Given the description of an element on the screen output the (x, y) to click on. 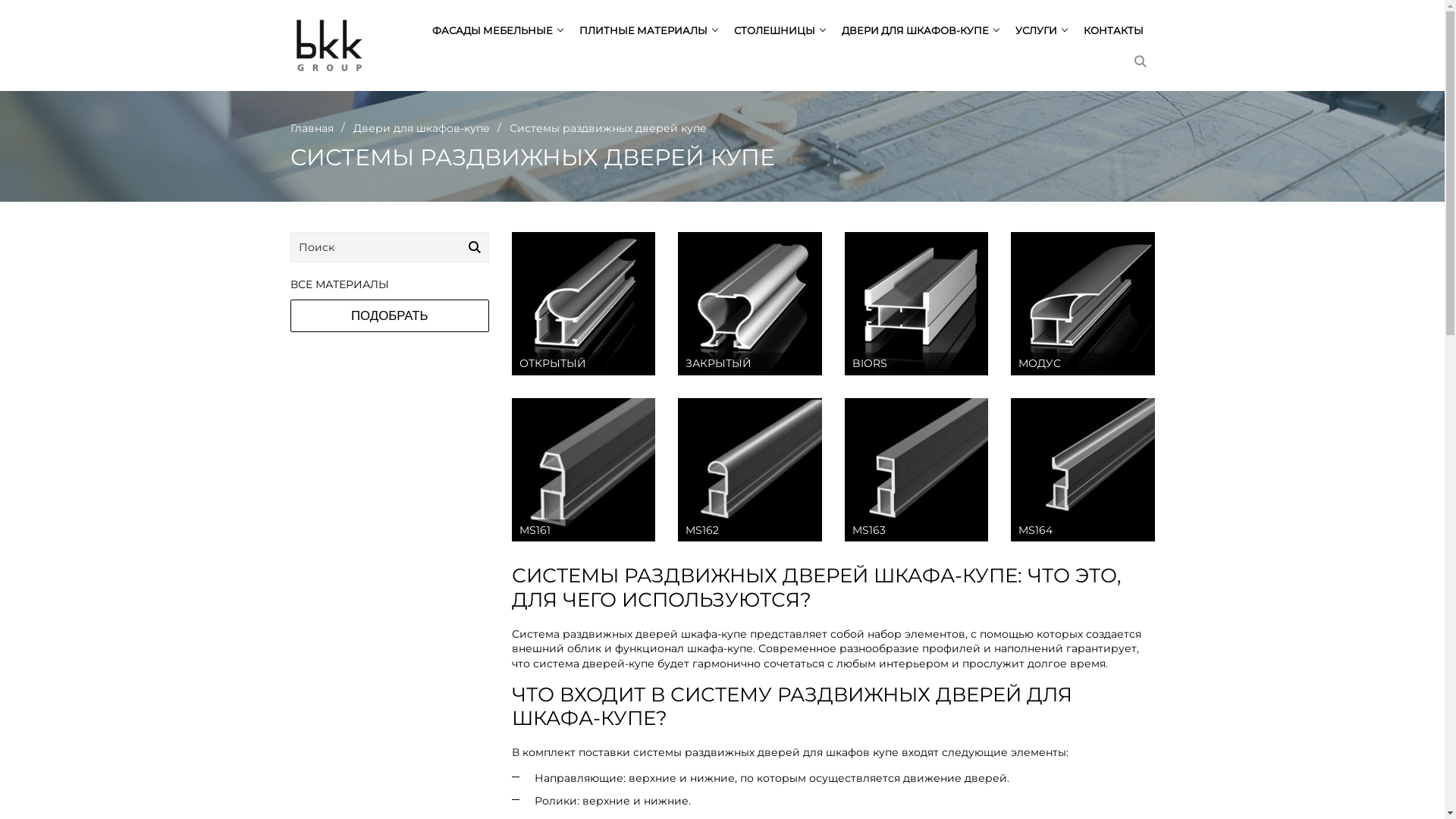
MS162 Element type: text (749, 469)
MS161 Element type: text (583, 469)
Logo Element type: hover (328, 45)
BIORS Element type: text (916, 303)
MS164 Element type: text (1082, 469)
MS163 Element type: text (916, 469)
